Given the description of an element on the screen output the (x, y) to click on. 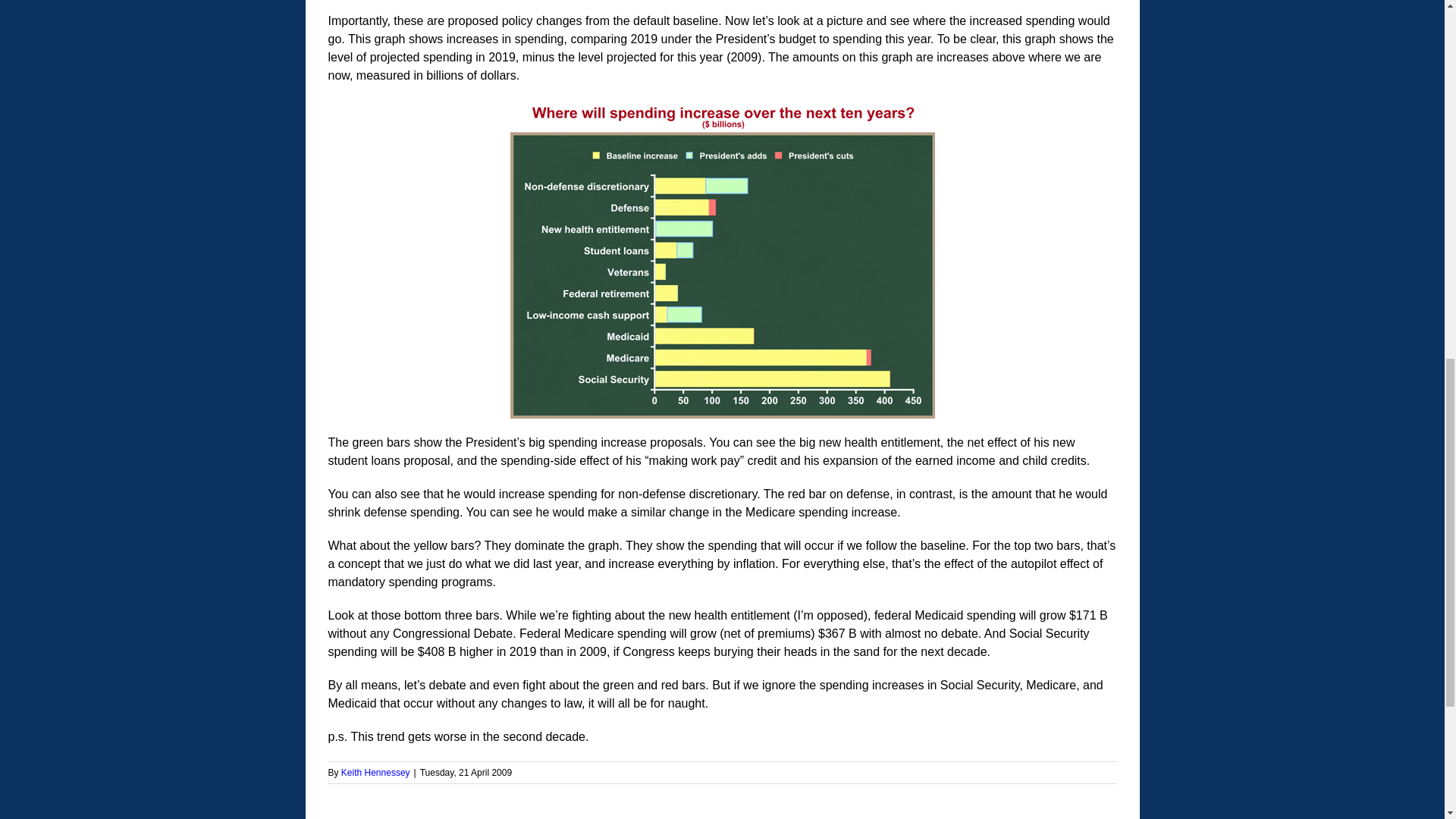
Keith Hennessey (375, 772)
Posts by Keith Hennessey (375, 772)
